Given the description of an element on the screen output the (x, y) to click on. 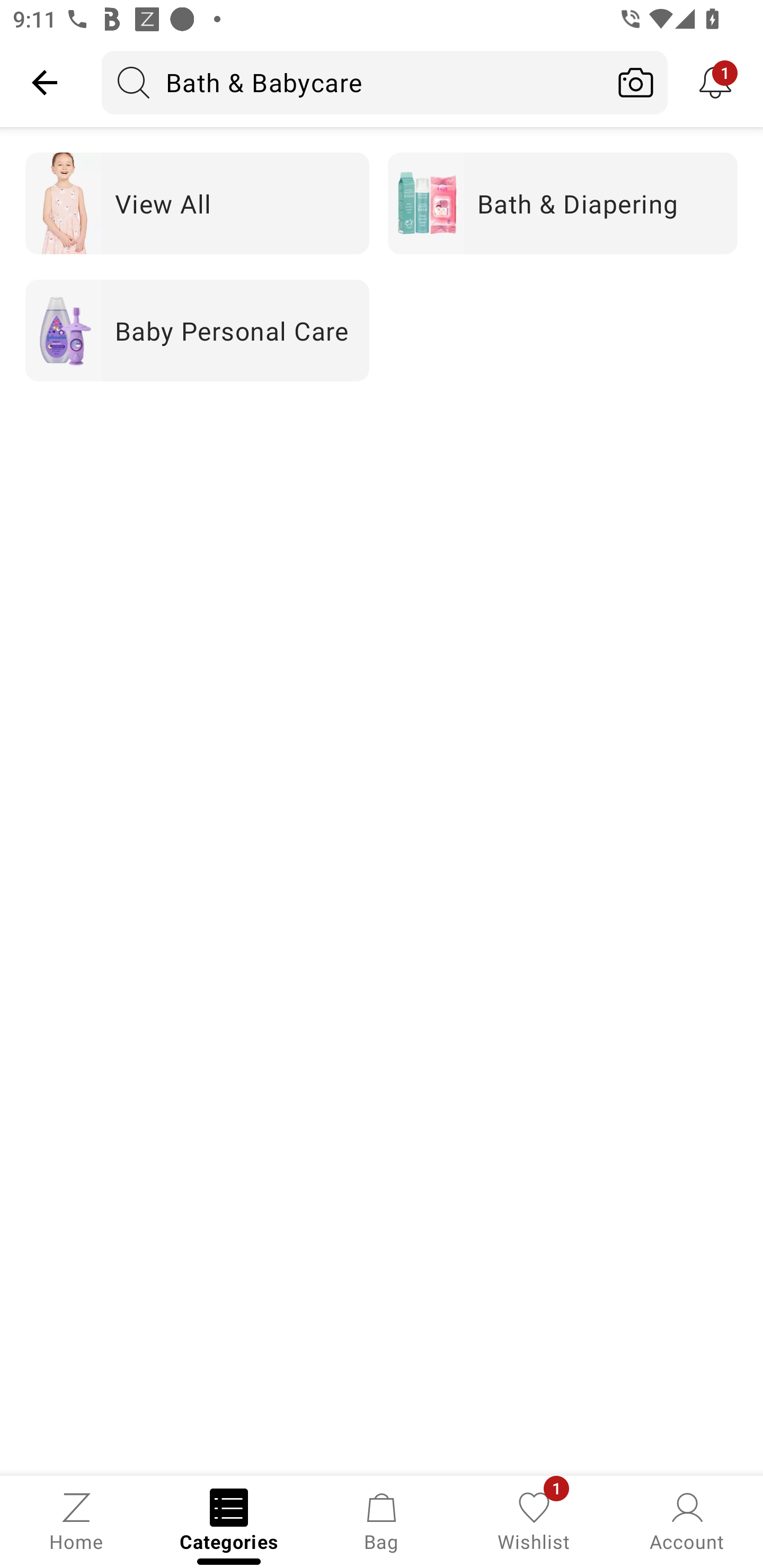
Navigate up (44, 82)
Bath & Babycare (352, 82)
View All (197, 203)
Bath & Diapering (562, 203)
Baby Personal Care (197, 330)
Home (76, 1519)
Bag (381, 1519)
Wishlist, 1 new notification Wishlist (533, 1519)
Account (686, 1519)
